Given the description of an element on the screen output the (x, y) to click on. 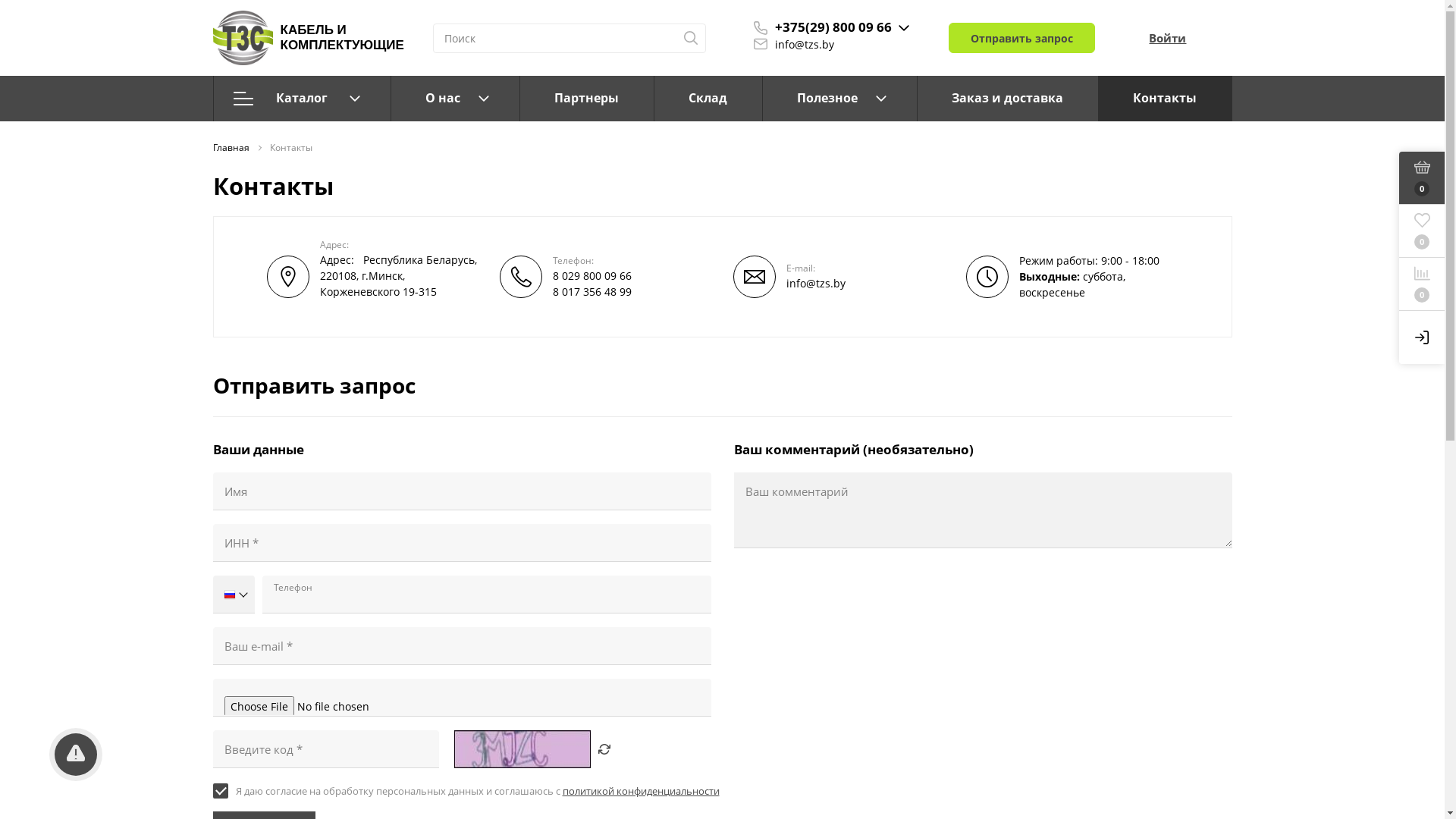
0 Element type: text (1421, 283)
info@tzs.by Element type: text (804, 44)
pzb7dz6w52xjnrt0ehrchll9x4x38ccs.png Element type: hover (242, 37)
8 017 356 48 99 Element type: text (591, 291)
+375(29) 800 09 66 Element type: text (833, 26)
0 Element type: text (1421, 177)
info@tzs.by Element type: text (814, 283)
0 Element type: text (1421, 230)
8 029 800 09 66 Element type: text (591, 275)
